Given the description of an element on the screen output the (x, y) to click on. 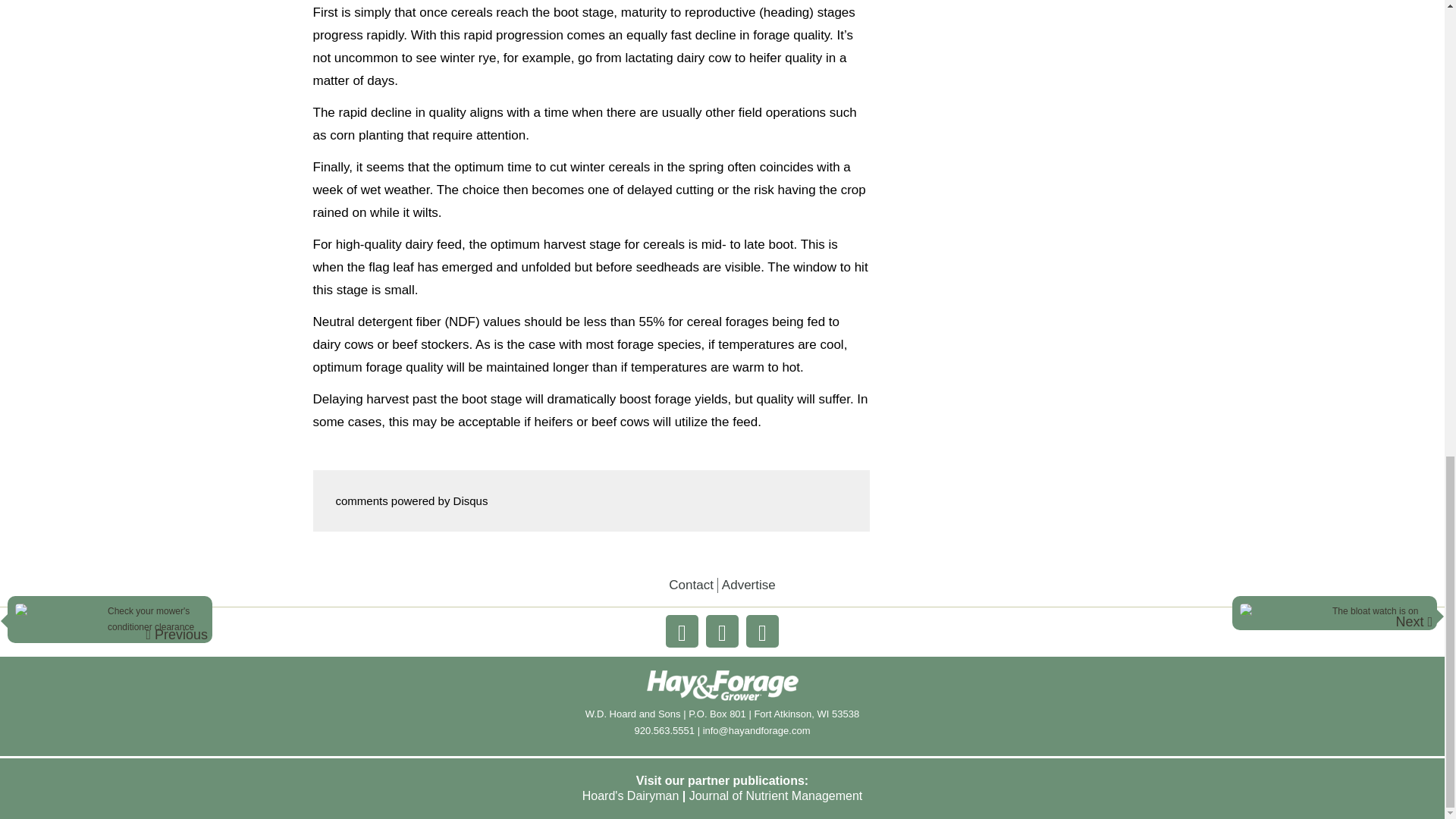
Journal of Nutrient Management (775, 795)
